Given the description of an element on the screen output the (x, y) to click on. 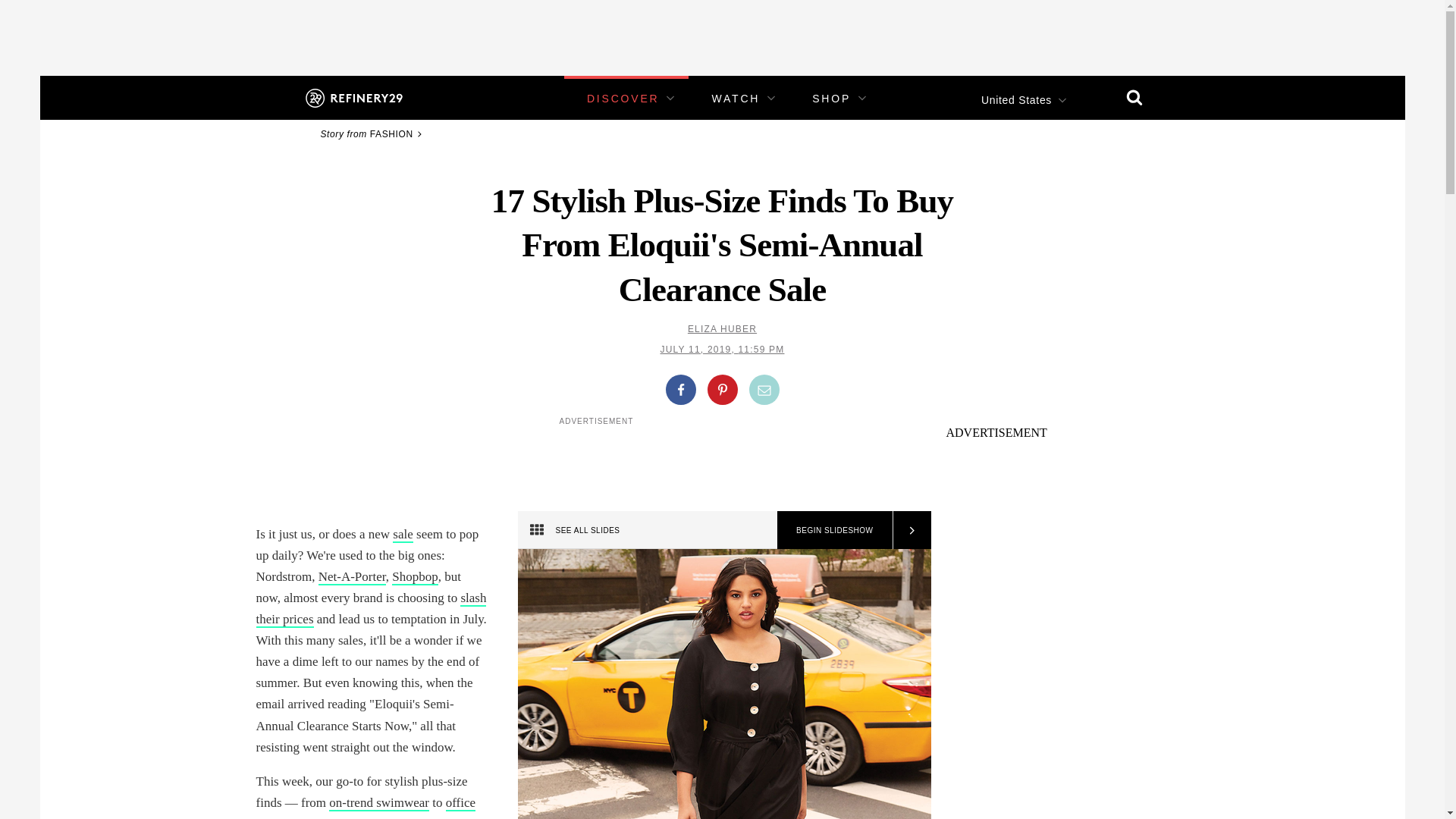
ELIZA HUBER (722, 328)
Refinery29 (352, 97)
on-trend swimwear (379, 803)
WATCH (735, 98)
Next Slide (910, 529)
BEGIN SLIDESHOW (834, 529)
Story from FASHION (373, 133)
sale (402, 534)
slash their prices (371, 609)
Net-A-Porter (351, 577)
Share on Pinterest (721, 389)
Shopbop (414, 577)
Begin Slideshow (834, 529)
Share on Facebook (680, 389)
JULY 11, 2019, 11:59 PM (722, 348)
